Given the description of an element on the screen output the (x, y) to click on. 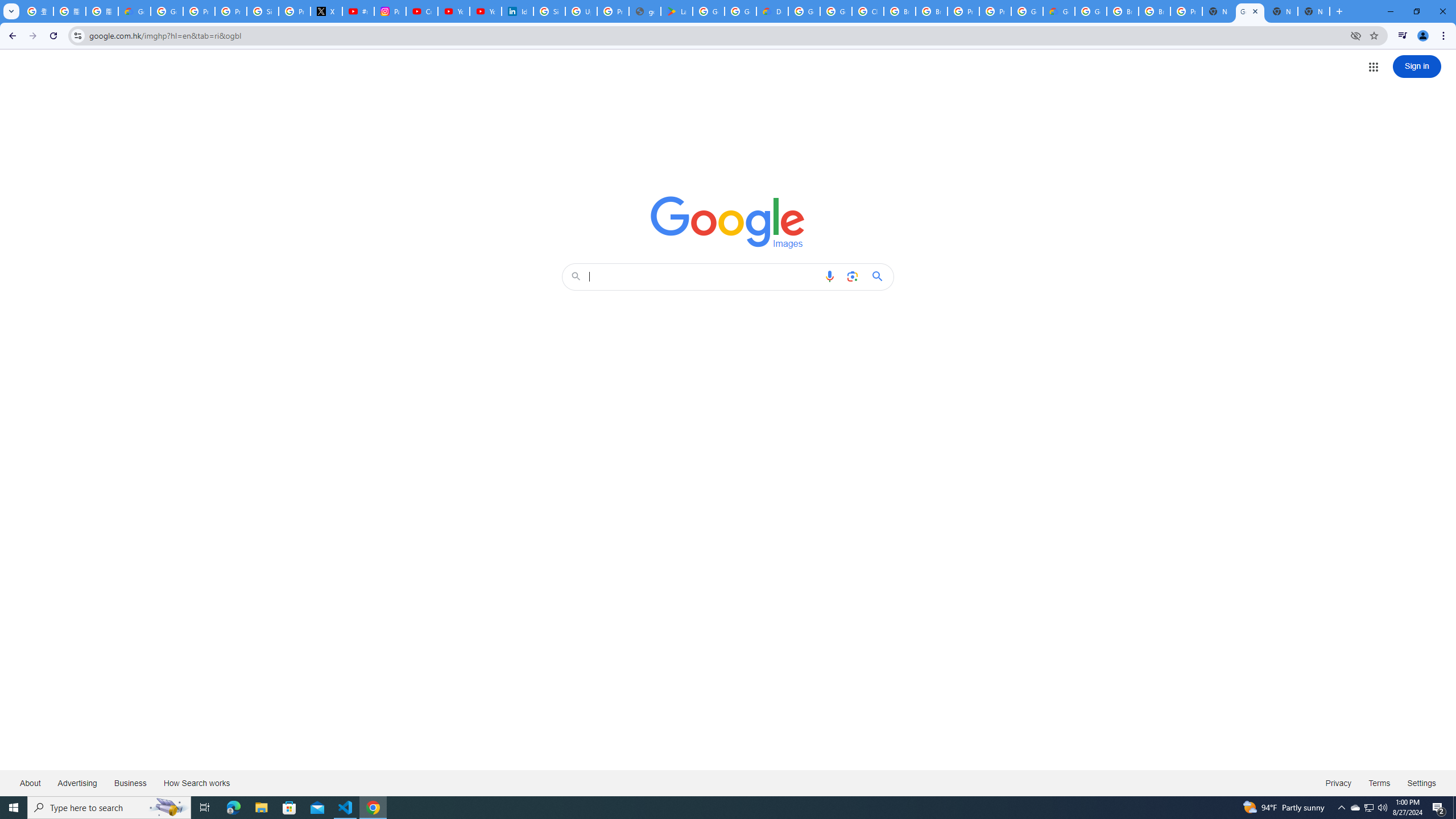
Google Cloud Estimate Summary (1059, 11)
Google Cloud Platform (1027, 11)
Google Cloud Platform (1091, 11)
#nbabasketballhighlights - YouTube (358, 11)
Google Workspace - Specific Terms (740, 11)
